Given the description of an element on the screen output the (x, y) to click on. 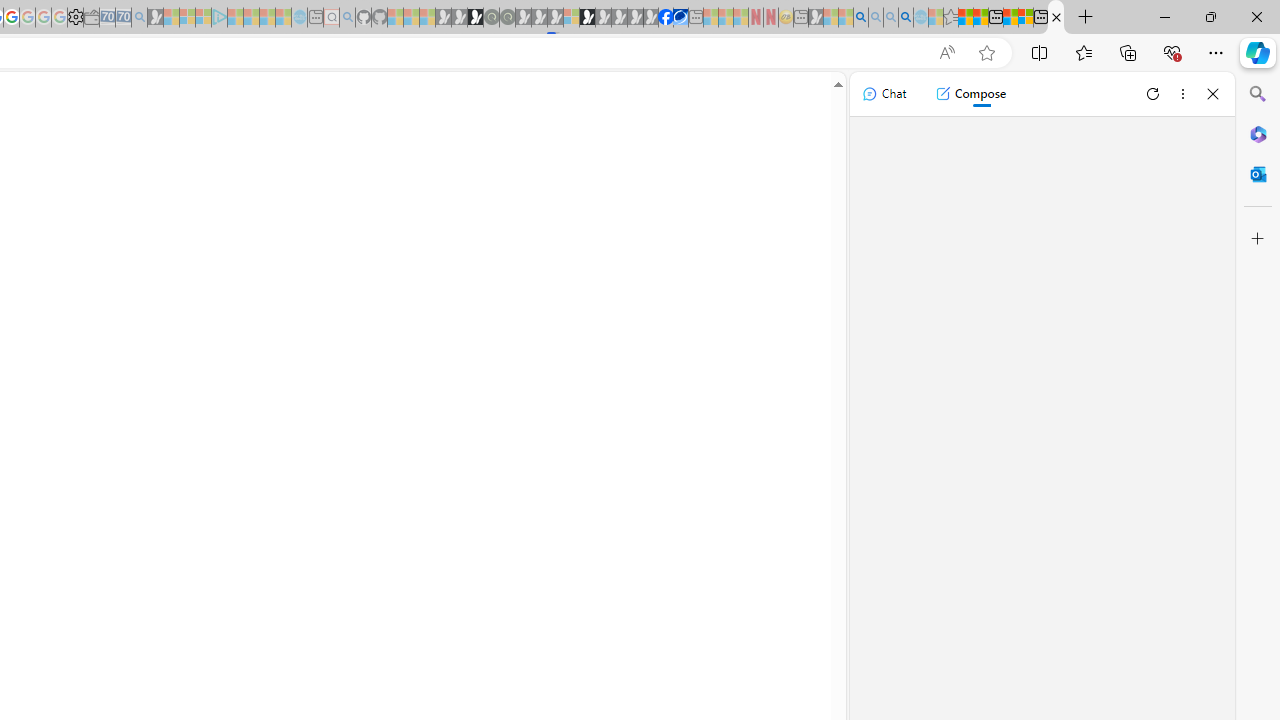
Home | Sky Blue Bikes - Sky Blue Bikes - Sleeping (299, 17)
Bing Real Estate - Home sales and rental listings - Sleeping (139, 17)
Favorites - Sleeping (950, 17)
MSN - Sleeping (816, 17)
Google Chrome Internet Browser Download - Search Images (905, 17)
Aberdeen, Hong Kong SAR weather forecast | Microsoft Weather (981, 17)
